Given the description of an element on the screen output the (x, y) to click on. 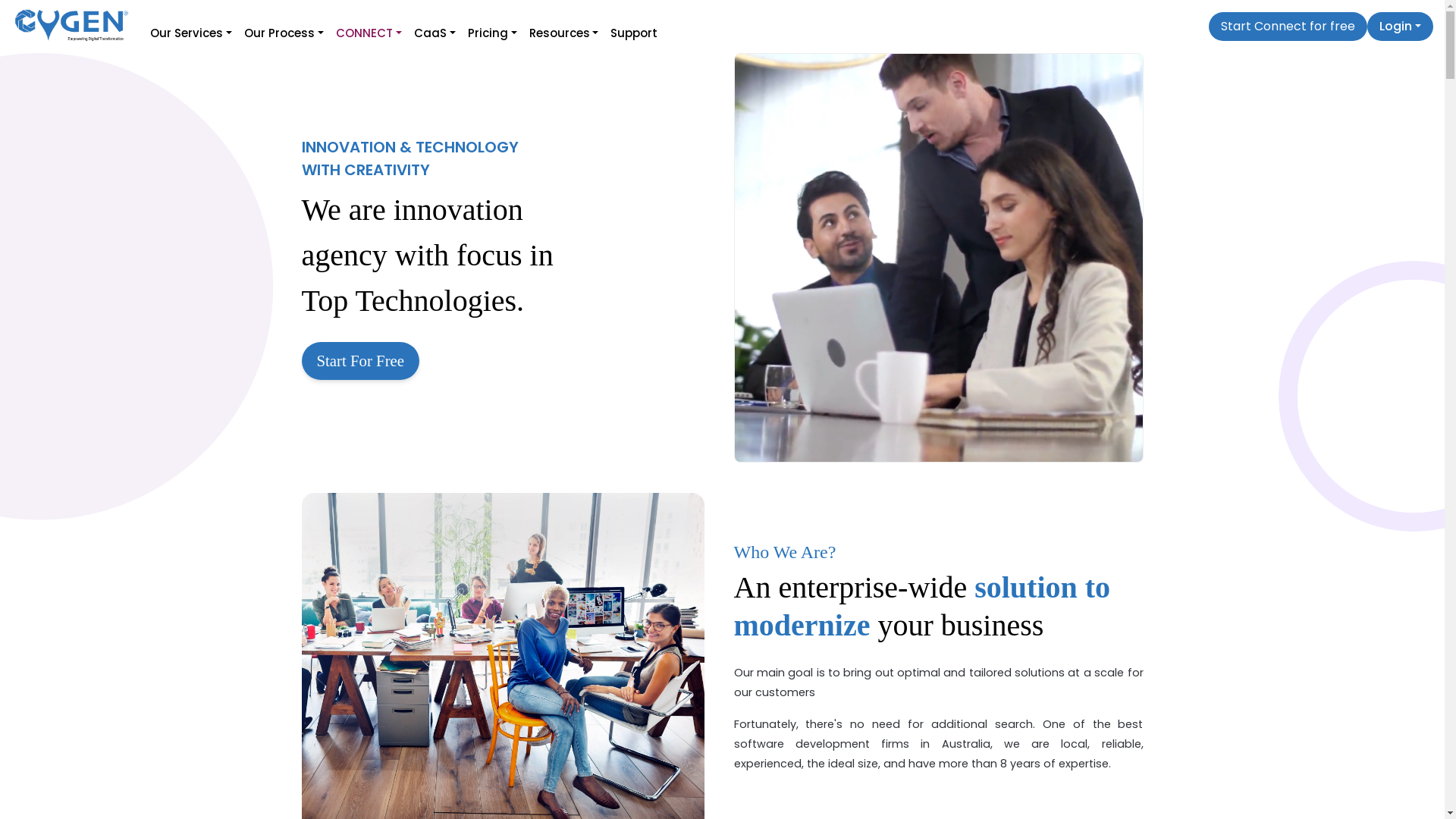
CONNECT Element type: text (368, 26)
Support Element type: text (633, 26)
Resources Element type: text (564, 26)
CaaS Element type: text (434, 26)
Our Services Element type: text (191, 26)
Start For Free Element type: text (360, 360)
Pricing Element type: text (492, 26)
Start Connect for free Element type: text (1287, 26)
Our Process Element type: text (283, 26)
Login Element type: text (1400, 26)
